Given the description of an element on the screen output the (x, y) to click on. 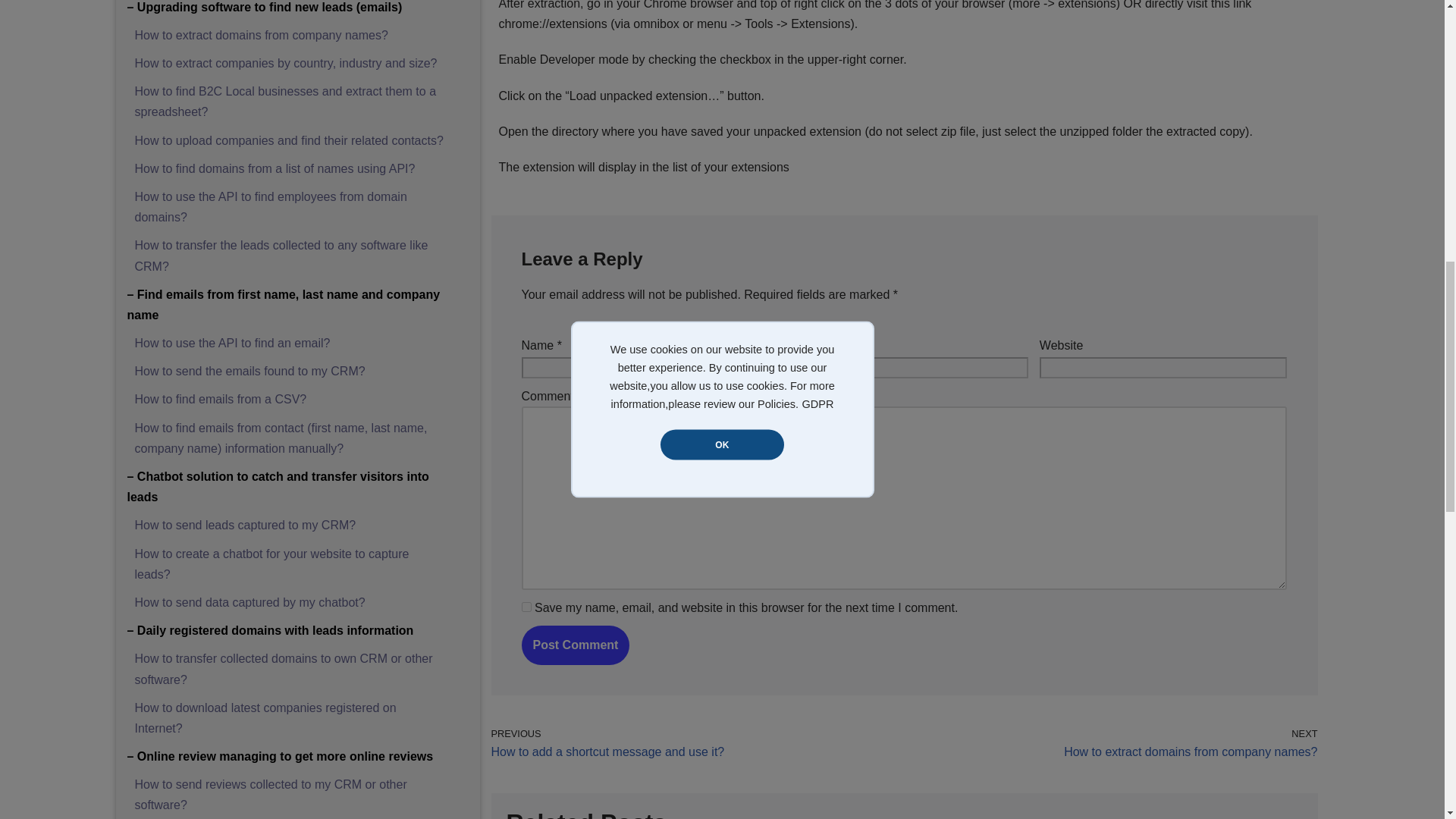
How to upload companies and find their related contacts? (289, 140)
How to find domains from a list of names using API? (274, 168)
Post Comment (575, 645)
How to use the API to find employees from domain domains? (271, 206)
yes (526, 606)
How to extract domains from company names? (261, 34)
How to extract companies by country, industry and size? (286, 62)
